Given the description of an element on the screen output the (x, y) to click on. 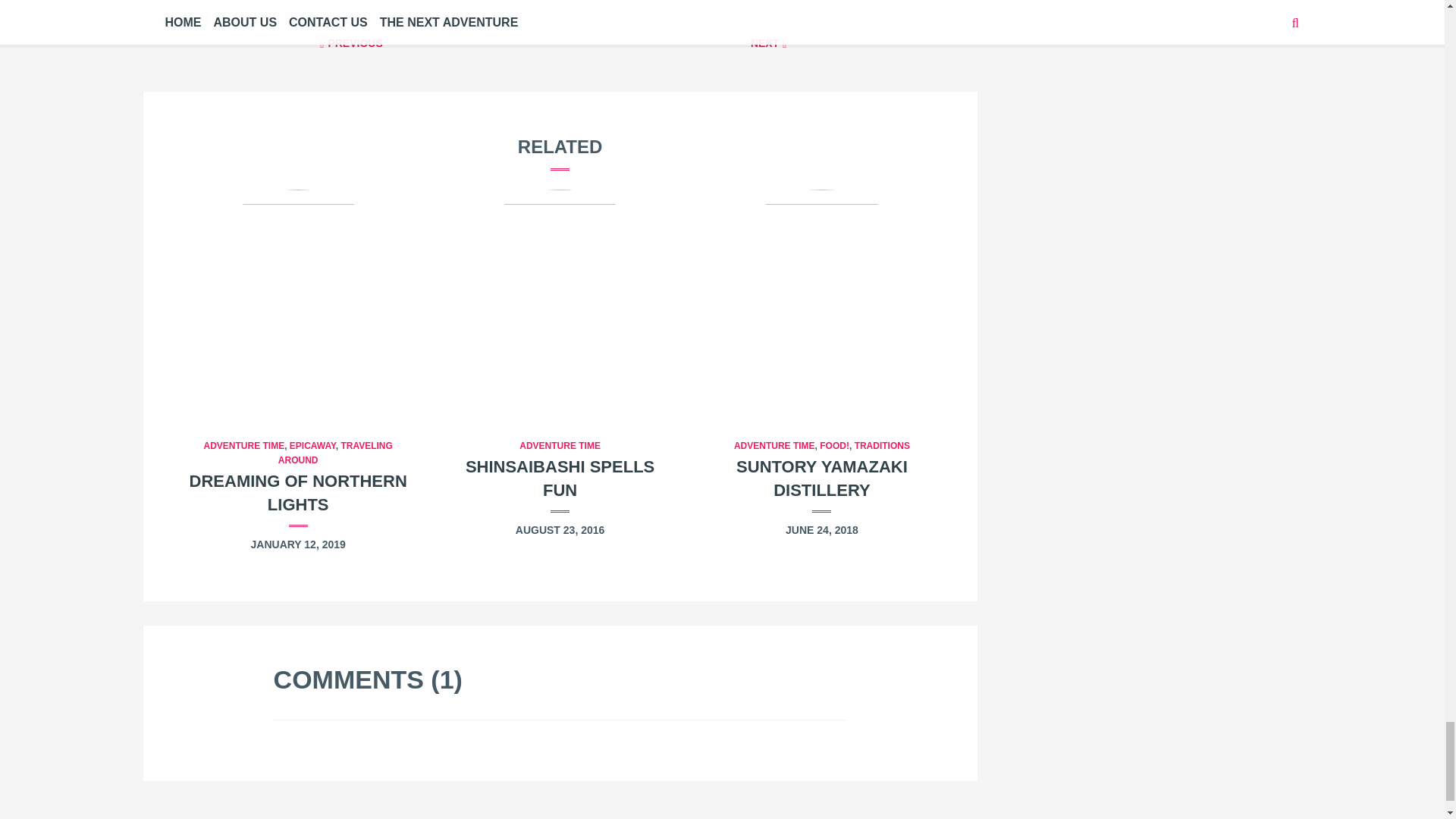
Shinsaibashi Spells Fun (559, 301)
TRADITIONS (882, 445)
SHINSAIBASHI SPELLS FUN (559, 478)
Suntory Yamazaki Distillery (821, 478)
NEXT (768, 42)
Dreaming of Northern Lights (298, 492)
DREAMING OF NORTHERN LIGHTS (298, 492)
Dreaming of Northern Lights (297, 301)
PREVIOUS (350, 42)
ADVENTURE TIME (774, 445)
